Given the description of an element on the screen output the (x, y) to click on. 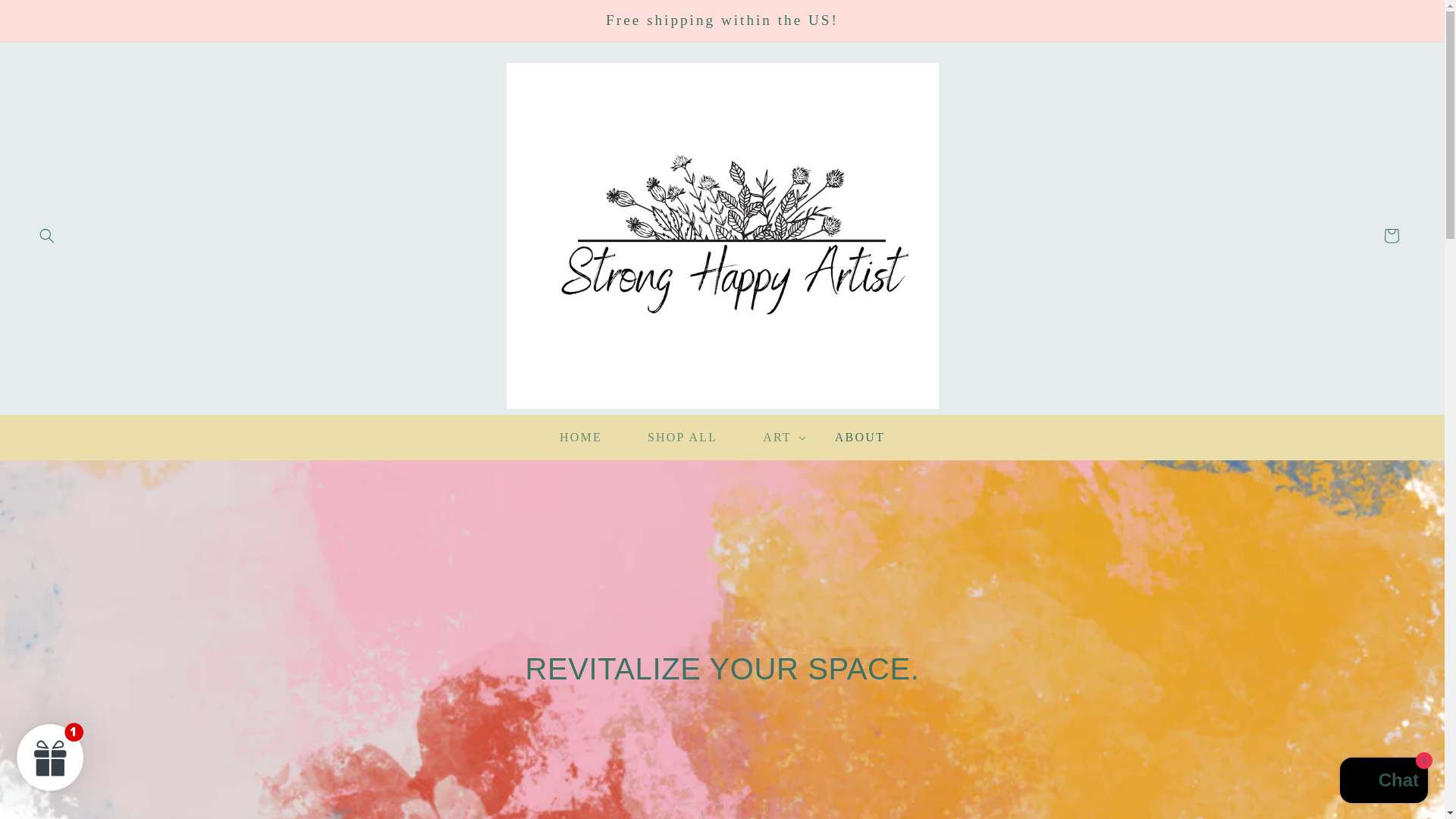
SKIP TO CONTENT (45, 17)
SHOP ALL (681, 437)
HOME (580, 437)
Shopify online store chat (1383, 781)
Cart (1390, 235)
ABOUT (859, 437)
